Given the description of an element on the screen output the (x, y) to click on. 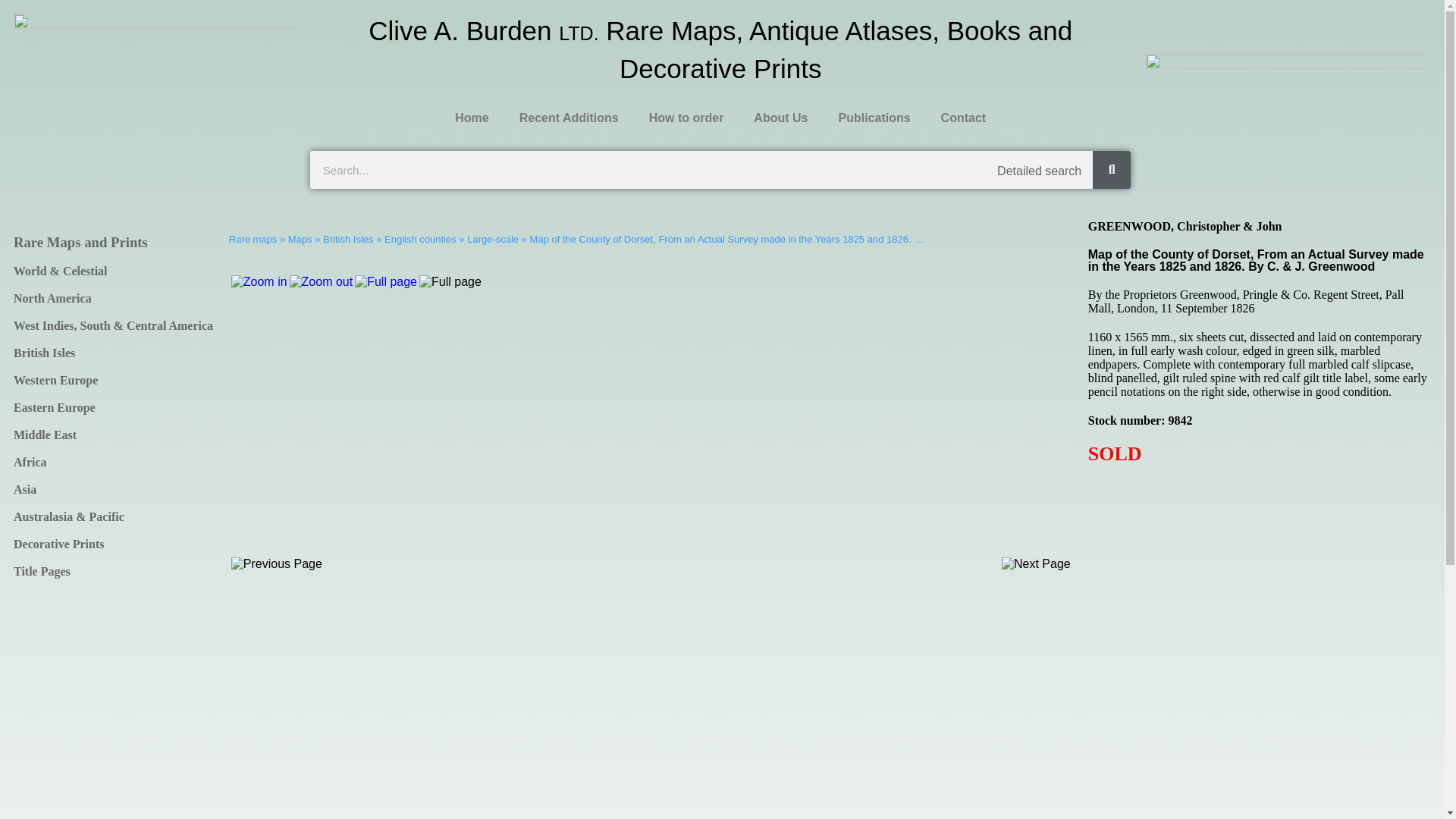
Home (471, 117)
Publications (873, 117)
North America (113, 298)
About Us (780, 117)
Contact (963, 117)
Recent Additions (568, 117)
British Isles (113, 353)
Detailed search (1039, 170)
How to order (686, 117)
